Given the description of an element on the screen output the (x, y) to click on. 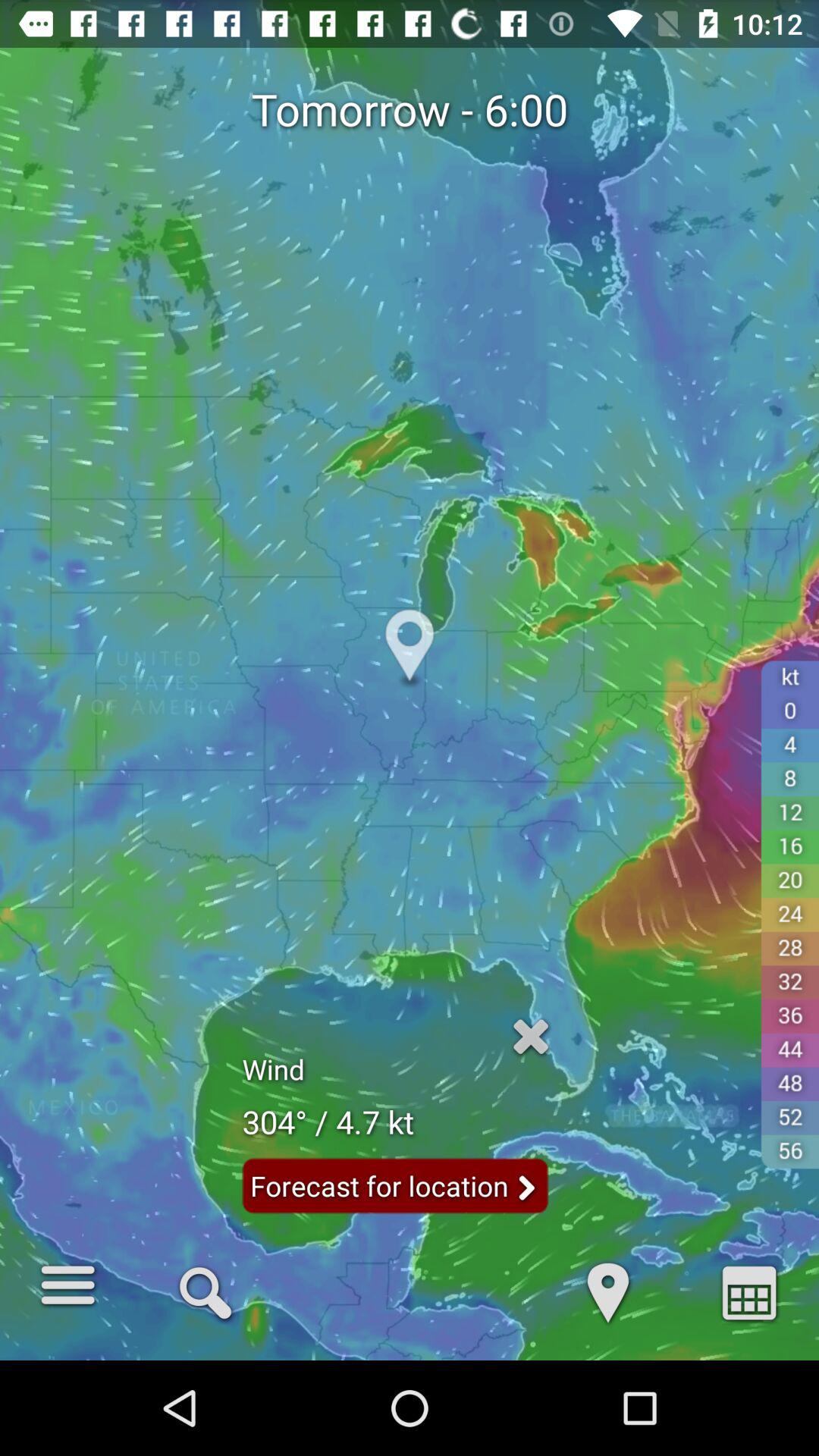
click q icon (205, 1291)
